Given the description of an element on the screen output the (x, y) to click on. 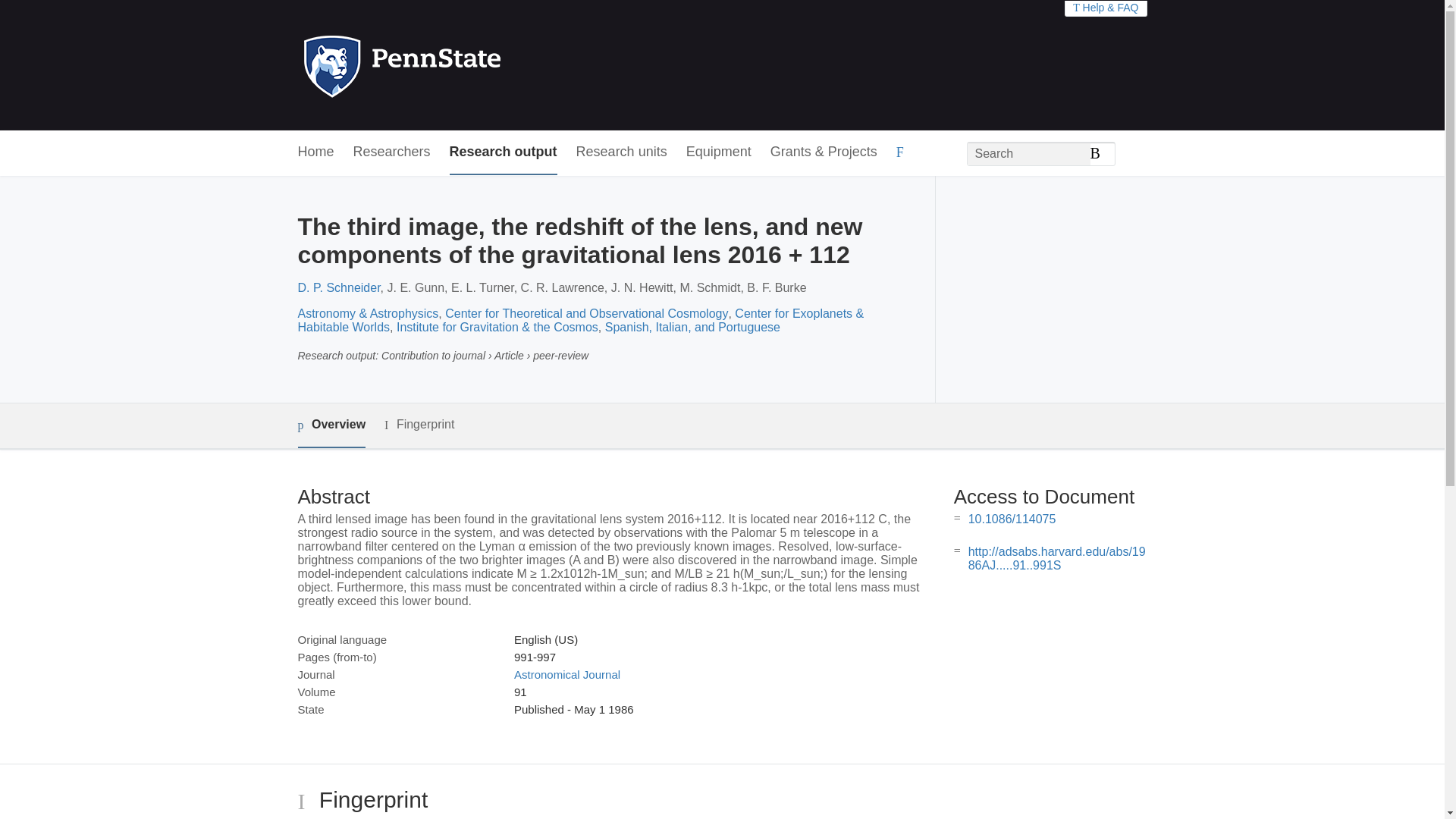
Research output (503, 152)
Fingerprint (419, 424)
Researchers (391, 152)
Overview (331, 425)
Equipment (718, 152)
Center for Theoretical and Observational Cosmology (586, 313)
Astronomical Journal (566, 674)
Research units (621, 152)
Home (315, 152)
D. P. Schneider (338, 287)
Penn State Home (467, 65)
Spanish, Italian, and Portuguese (692, 327)
